Given the description of an element on the screen output the (x, y) to click on. 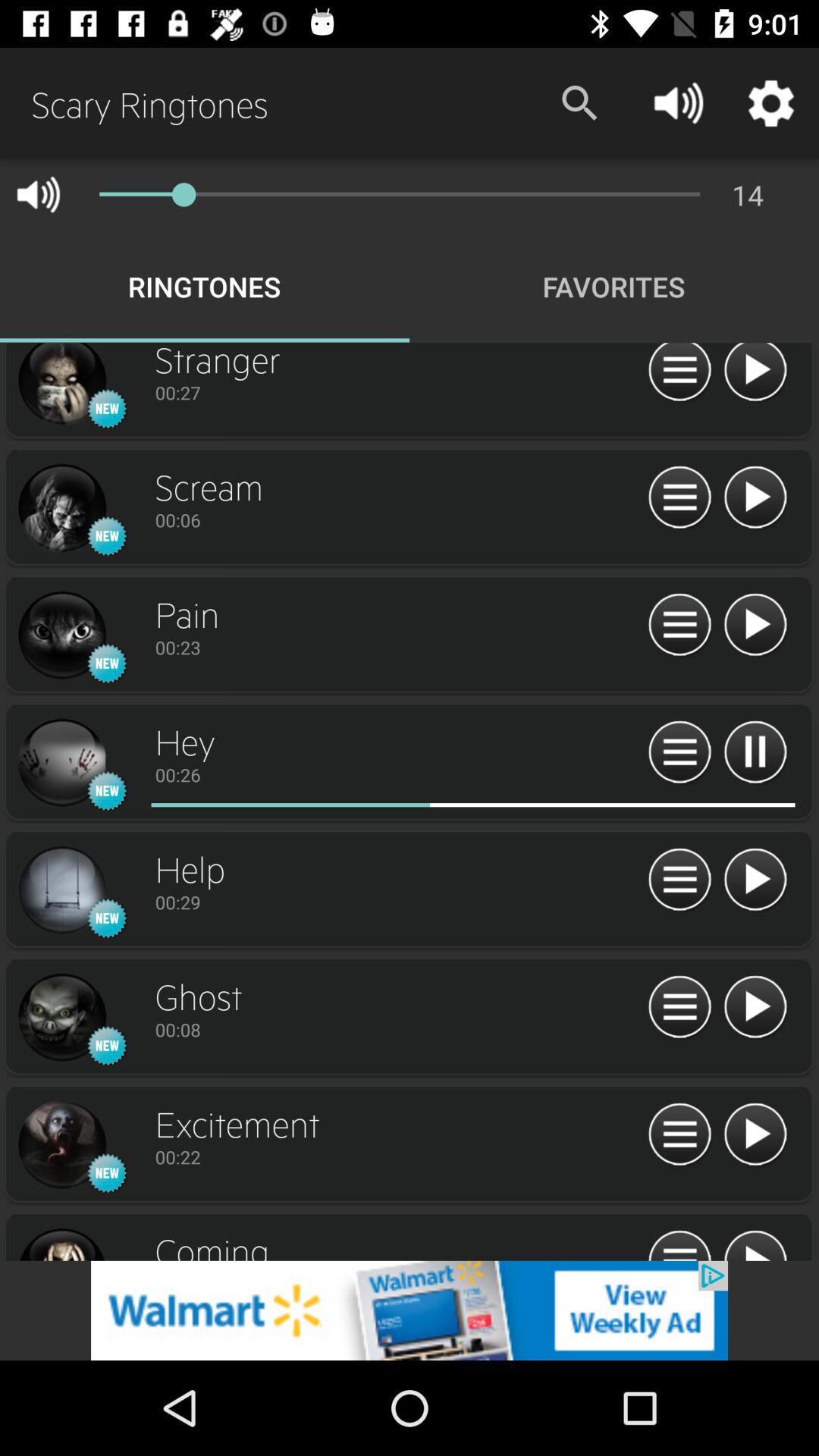
play song (755, 374)
